Given the description of an element on the screen output the (x, y) to click on. 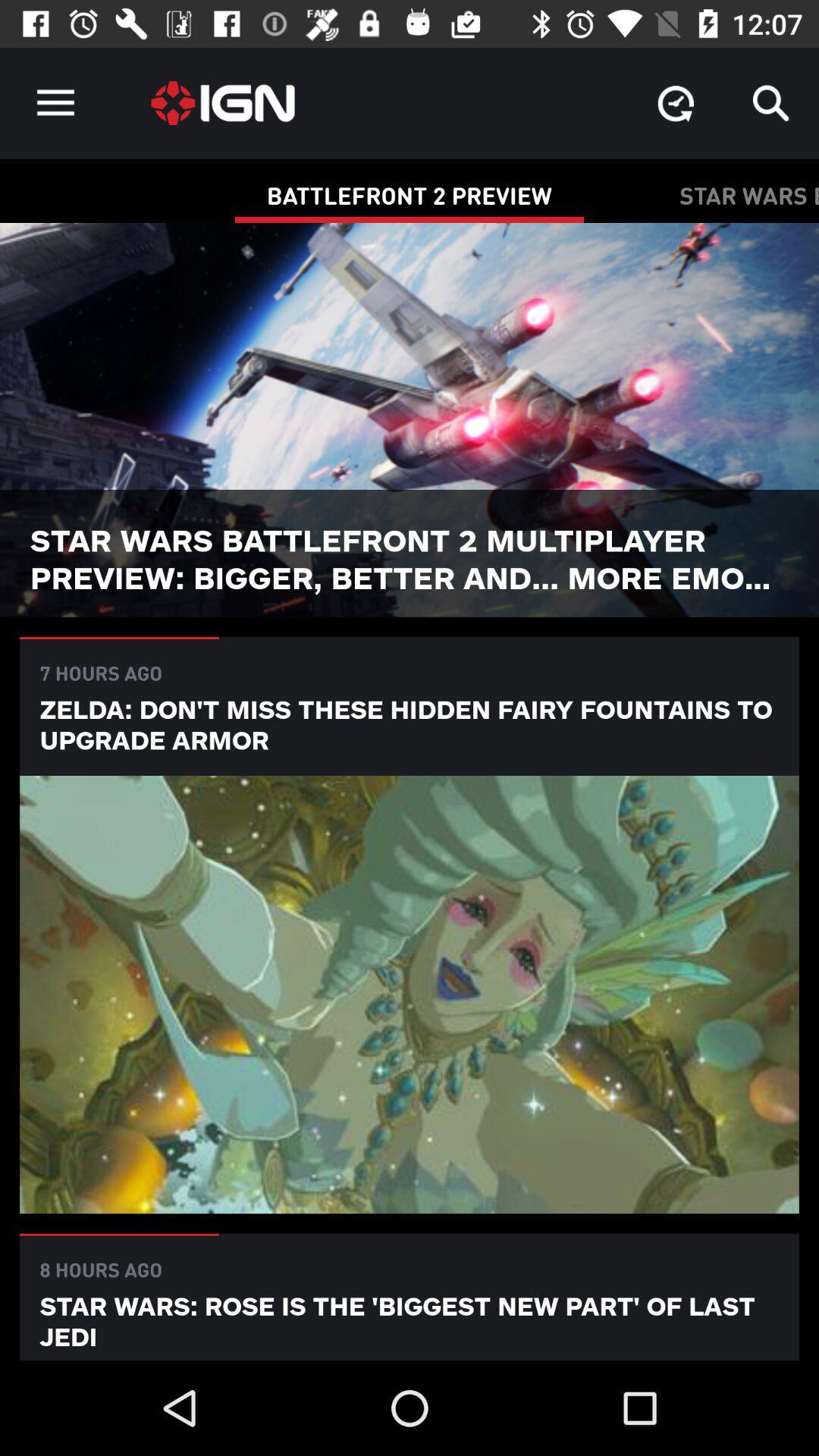
press app above star wars battlefront ... (675, 103)
